Given the description of an element on the screen output the (x, y) to click on. 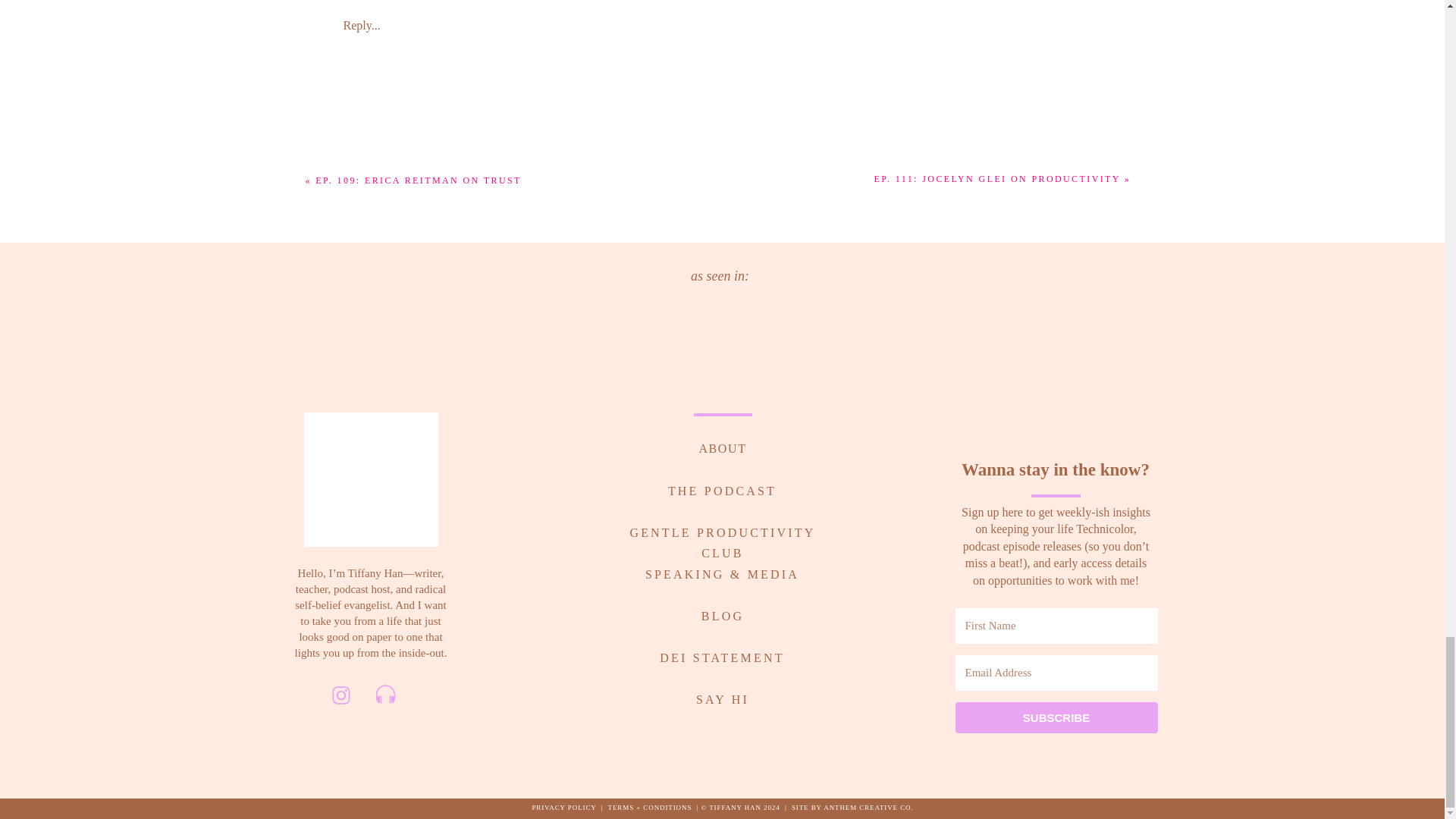
EP. 109: ERICA REITMAN ON TRUST (418, 180)
BLOG (722, 612)
EP. 111: JOCELYN GLEI ON PRODUCTIVITY (998, 178)
